Given the description of an element on the screen output the (x, y) to click on. 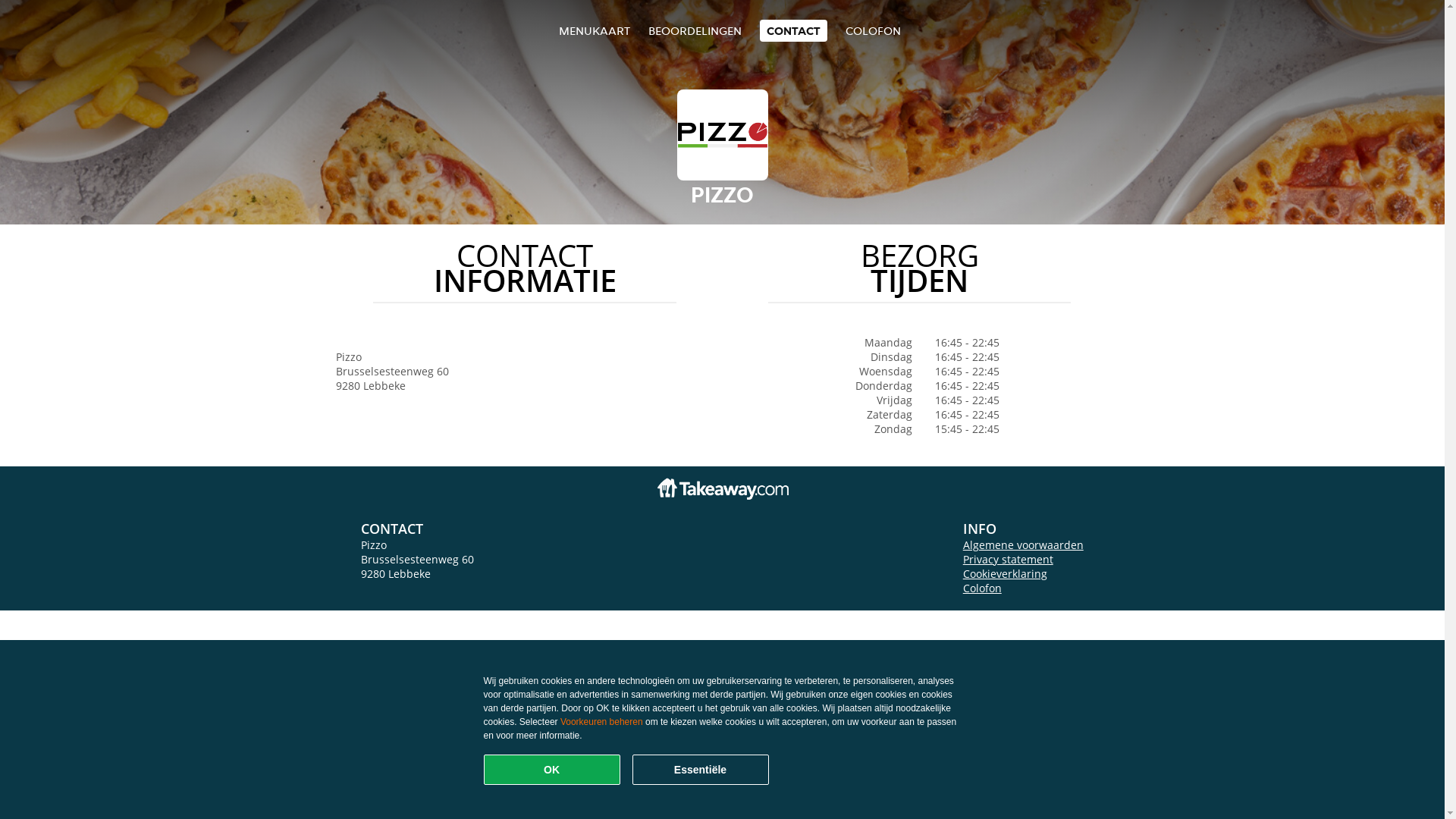
Privacy statement Element type: text (1008, 559)
COLOFON Element type: text (872, 30)
MENUKAART Element type: text (594, 30)
BEOORDELINGEN Element type: text (694, 30)
Voorkeuren beheren Element type: text (601, 721)
Cookieverklaring Element type: text (1005, 573)
Colofon Element type: text (982, 587)
OK Element type: text (551, 769)
CONTACT Element type: text (793, 30)
Algemene voorwaarden Element type: text (1023, 544)
